Given the description of an element on the screen output the (x, y) to click on. 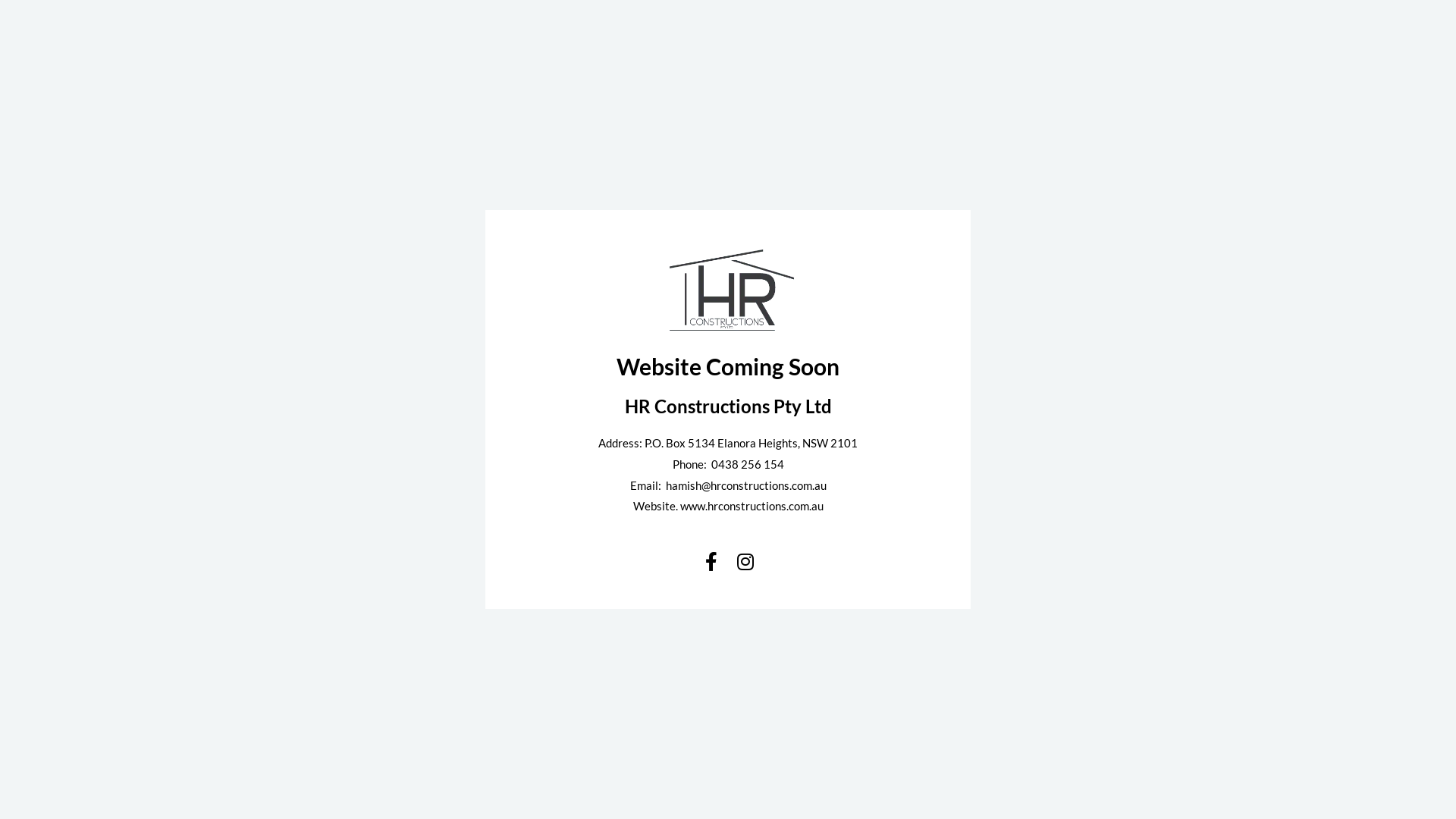
hamish@hrconstructions.com.au Element type: text (745, 485)
Instagram Element type: text (744, 561)
Facebook-f Element type: text (710, 561)
www.hrconstructions.com.au Element type: text (750, 505)
